Given the description of an element on the screen output the (x, y) to click on. 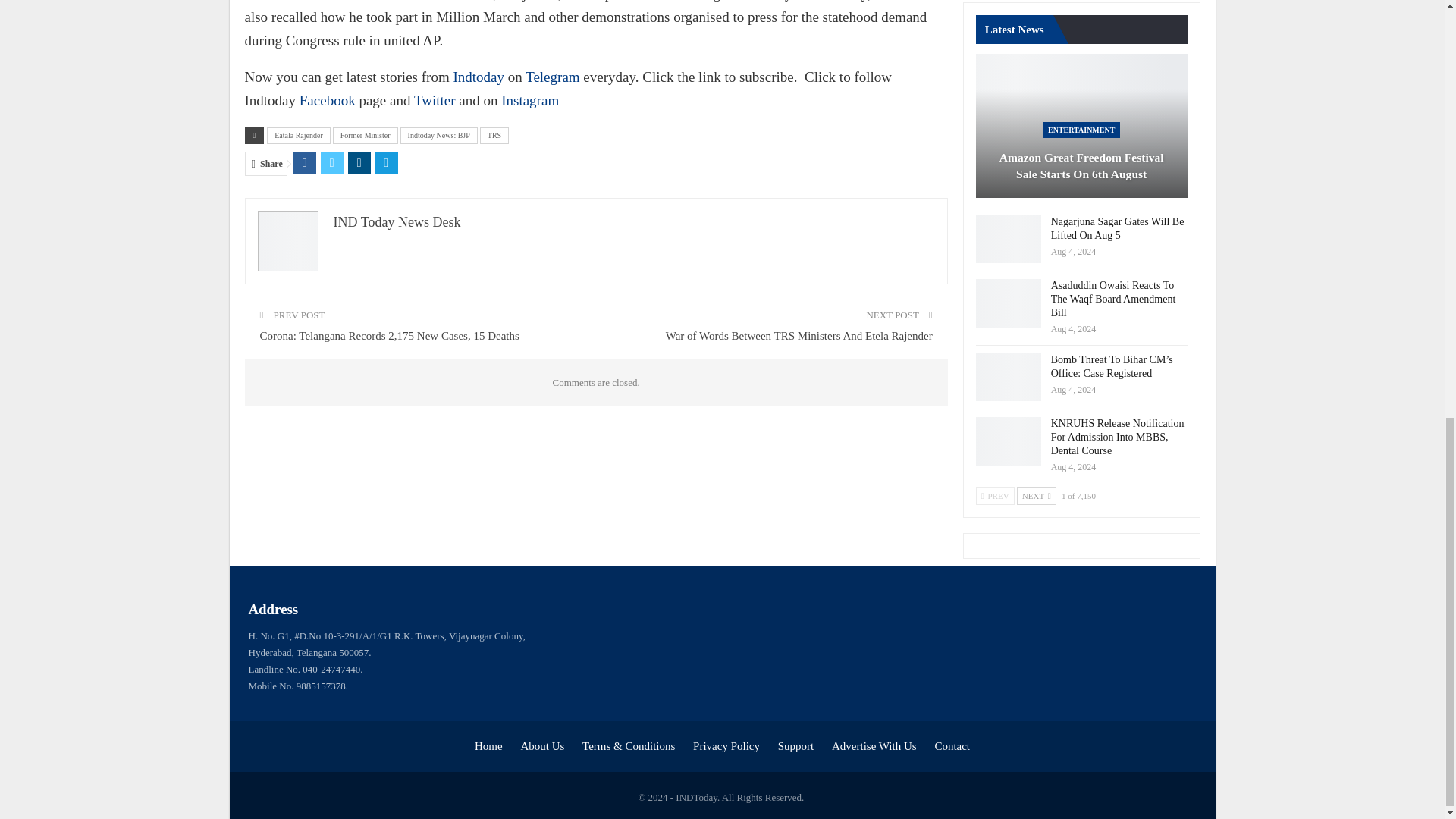
Facebook (327, 100)
Amazon Great Freedom Festival Sale Starts On 6th August (1081, 126)
Former Minister (365, 135)
Instagram (529, 100)
Telegram (552, 76)
Twitter (434, 100)
Indtoday (477, 76)
Indtoday News: BJP (438, 135)
Eatala Rajender (298, 135)
